Given the description of an element on the screen output the (x, y) to click on. 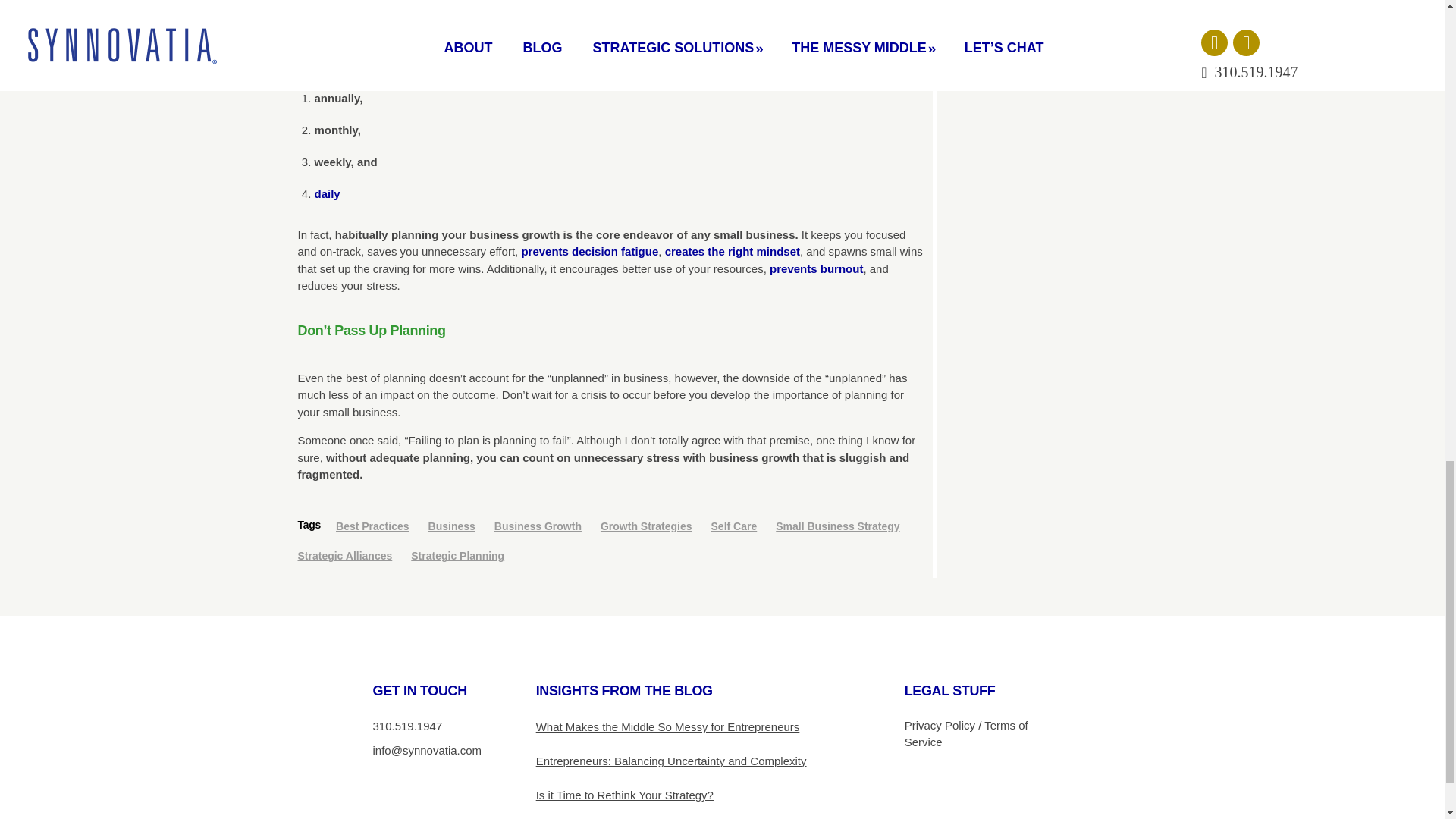
Self Care (742, 526)
daily (326, 193)
Best Practices (380, 526)
strategic planning (574, 50)
prevents decision fatigue (589, 250)
prevents decision fatigue (589, 250)
creates the right mindset (732, 250)
Small Business Strategy (845, 526)
Growth Strategies (653, 526)
strategic planning (574, 50)
creates the right mindset (732, 250)
daily (326, 193)
prevents burnout (816, 268)
prevents burnout (816, 268)
Strategic Alliances (352, 555)
